Given the description of an element on the screen output the (x, y) to click on. 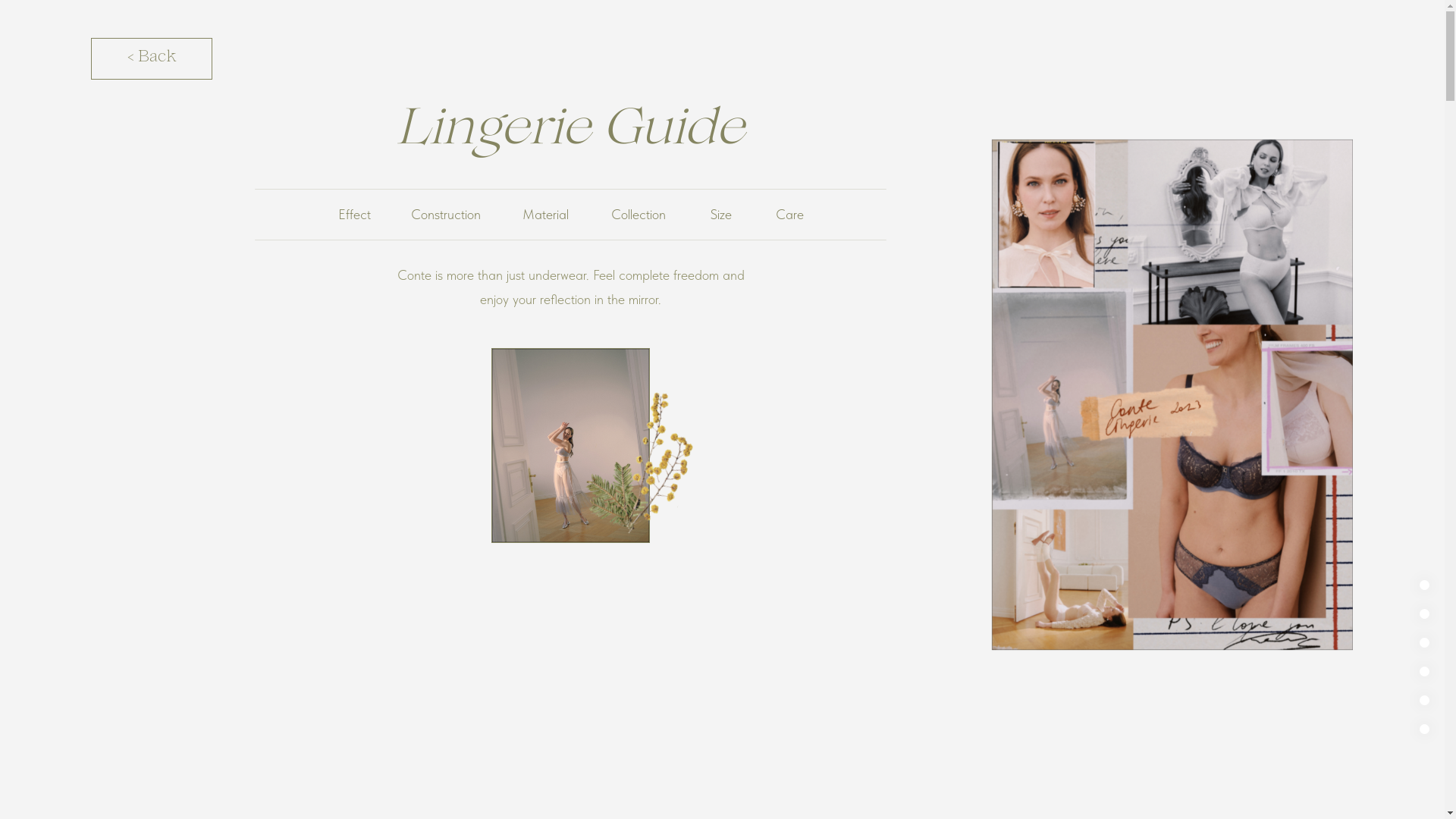
Size Element type: text (720, 213)
< Back Element type: text (151, 58)
Construction Element type: text (445, 213)
Care Element type: text (788, 213)
Effect Element type: text (354, 213)
Material Element type: text (545, 213)
Collection Element type: text (638, 213)
